Given the description of an element on the screen output the (x, y) to click on. 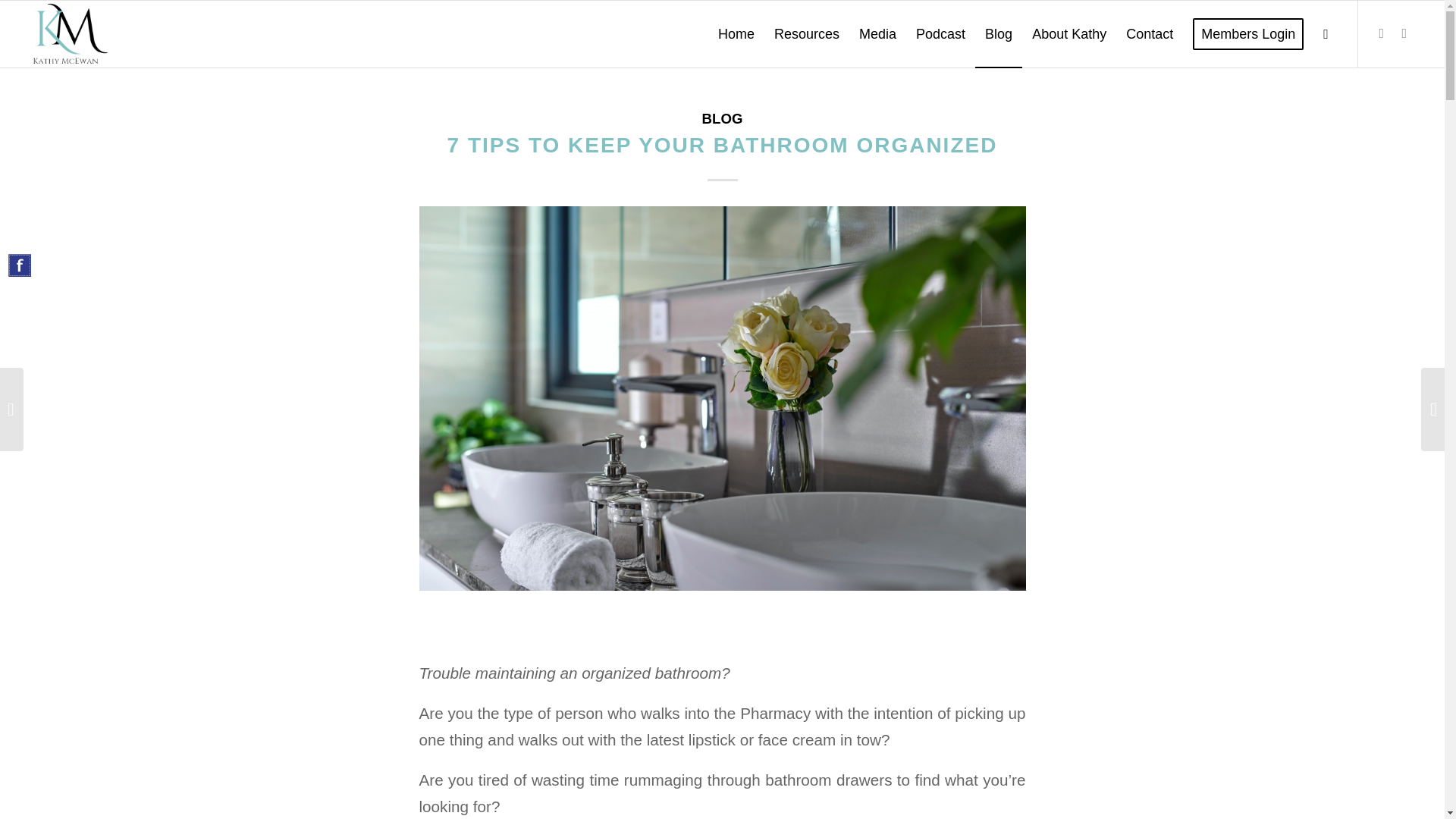
Instagram (1404, 33)
Contact (1149, 33)
Members Login (1247, 33)
BLOG (721, 118)
Permanent Link: 7 Tips to Keep Your Bathroom Organized (721, 145)
Facebook (1381, 33)
Resources (806, 33)
7 TIPS TO KEEP YOUR BATHROOM ORGANIZED (721, 145)
About Kathy (1069, 33)
Podcast (940, 33)
